Given the description of an element on the screen output the (x, y) to click on. 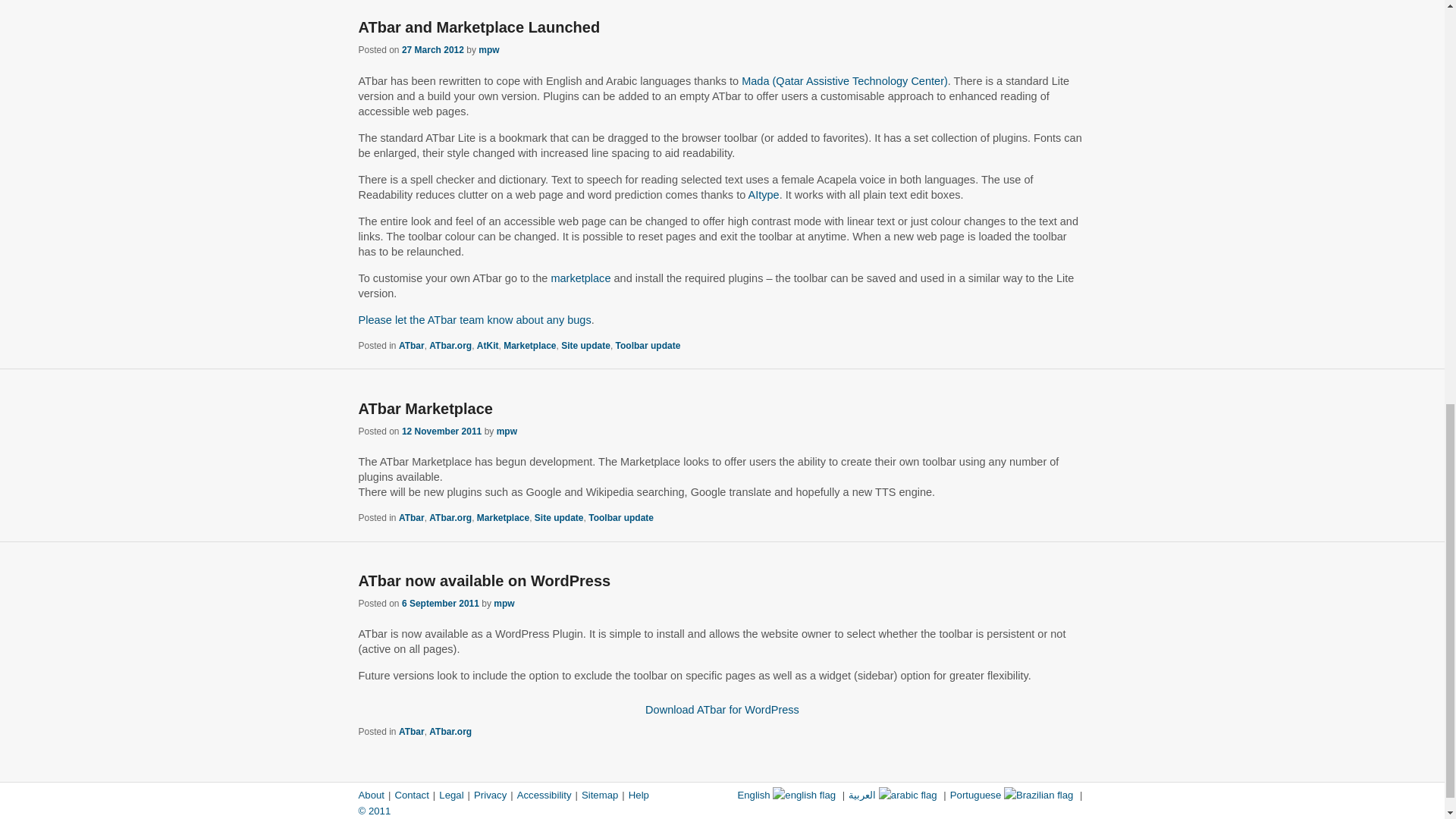
Permalink to ATbar and Marketplace Launched (478, 27)
View all posts by mpw (506, 430)
Permalink to ATbar Marketplace (425, 408)
11:47 am (441, 430)
View all posts by mpw (489, 50)
4:02 pm (432, 50)
